Given the description of an element on the screen output the (x, y) to click on. 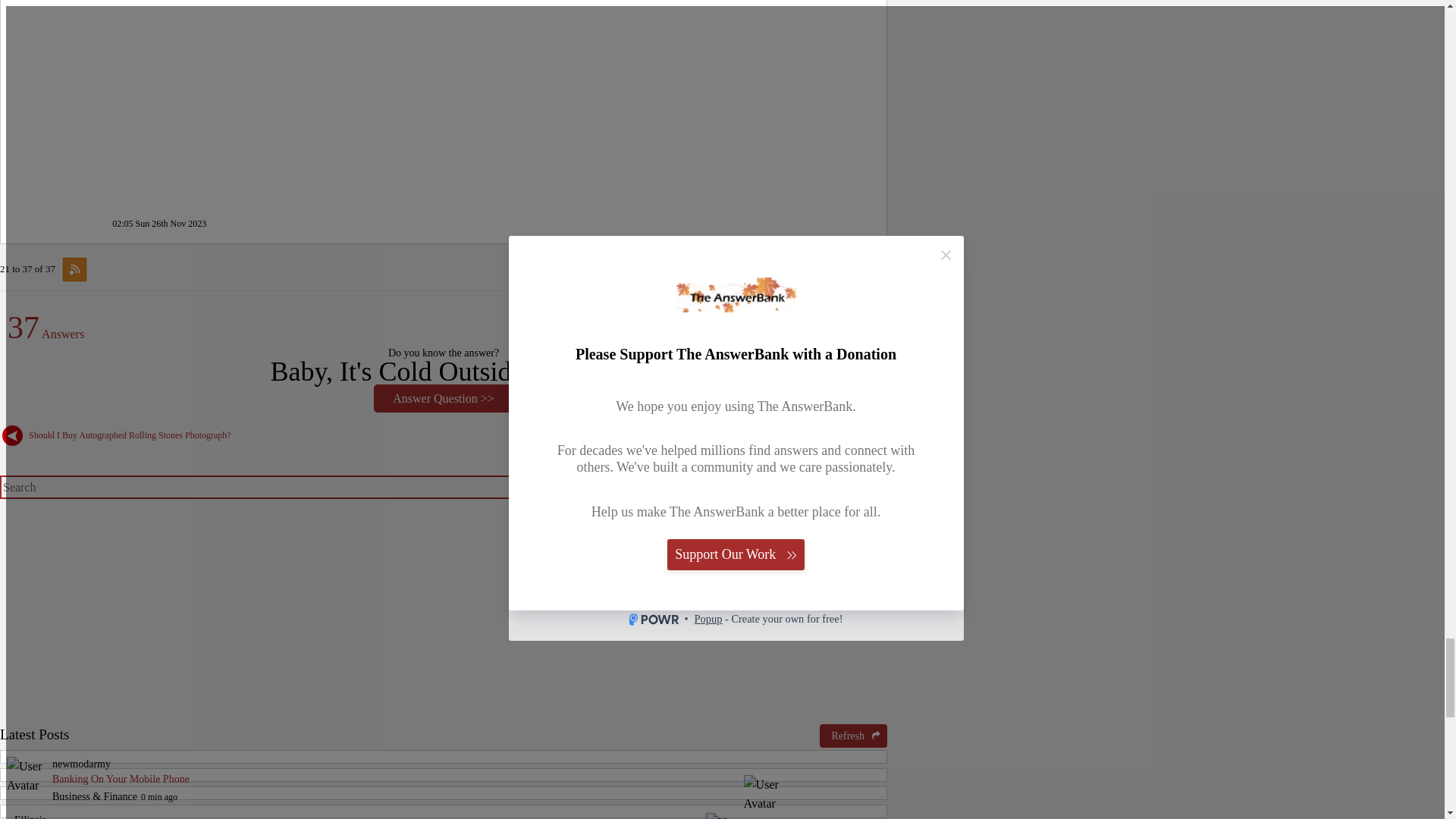
GO (866, 486)
GO (866, 486)
